Given the description of an element on the screen output the (x, y) to click on. 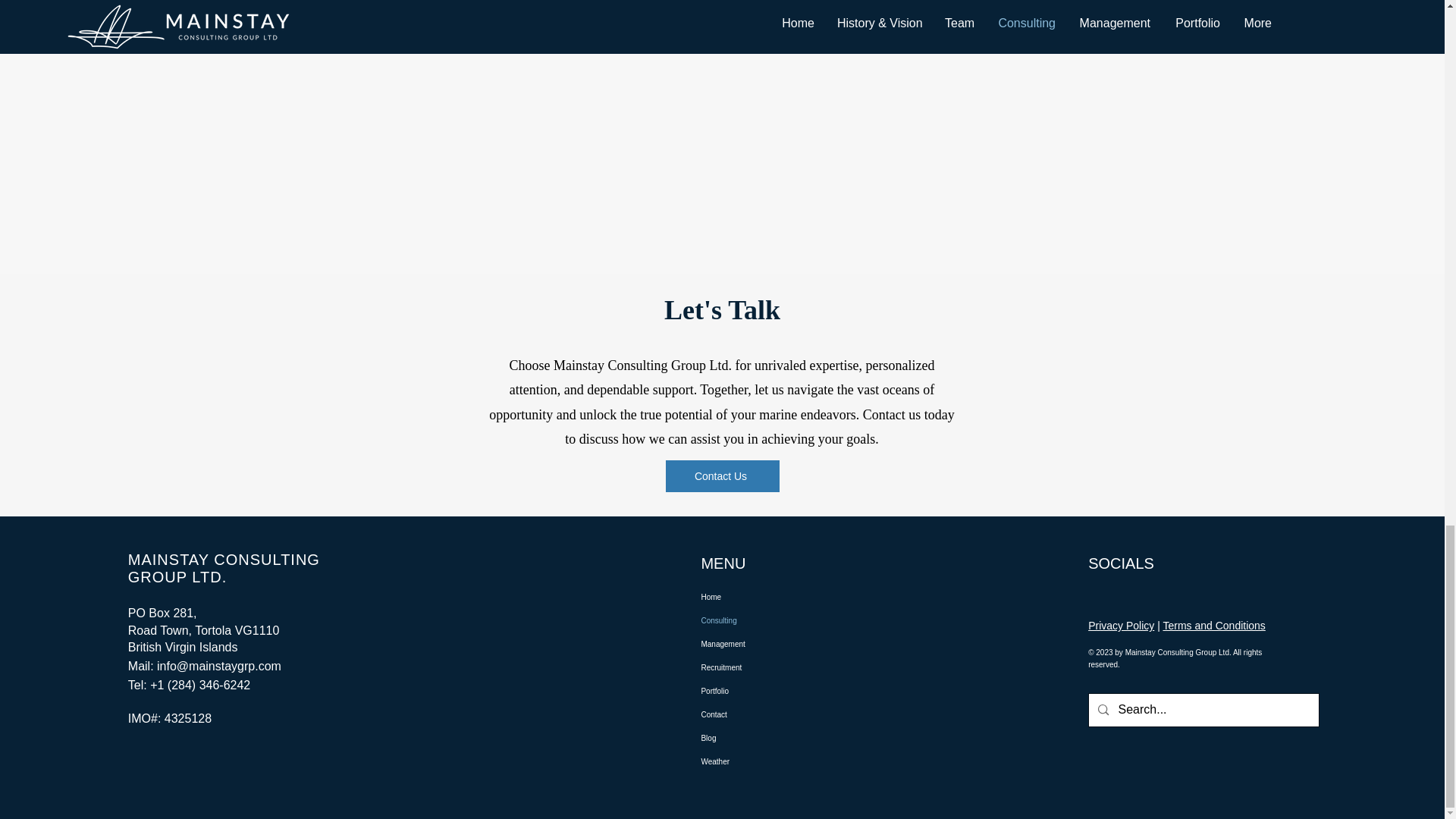
Blog (771, 738)
Privacy Policy (1120, 625)
Terms and Conditions (1213, 625)
MAINSTAY CONSULTING GROUP LTD. (224, 568)
Contact (771, 714)
Consulting (771, 620)
Management (771, 644)
Contact Us (721, 476)
Portfolio (771, 690)
Recruitment (771, 667)
Home (771, 597)
Weather (771, 761)
